Given the description of an element on the screen output the (x, y) to click on. 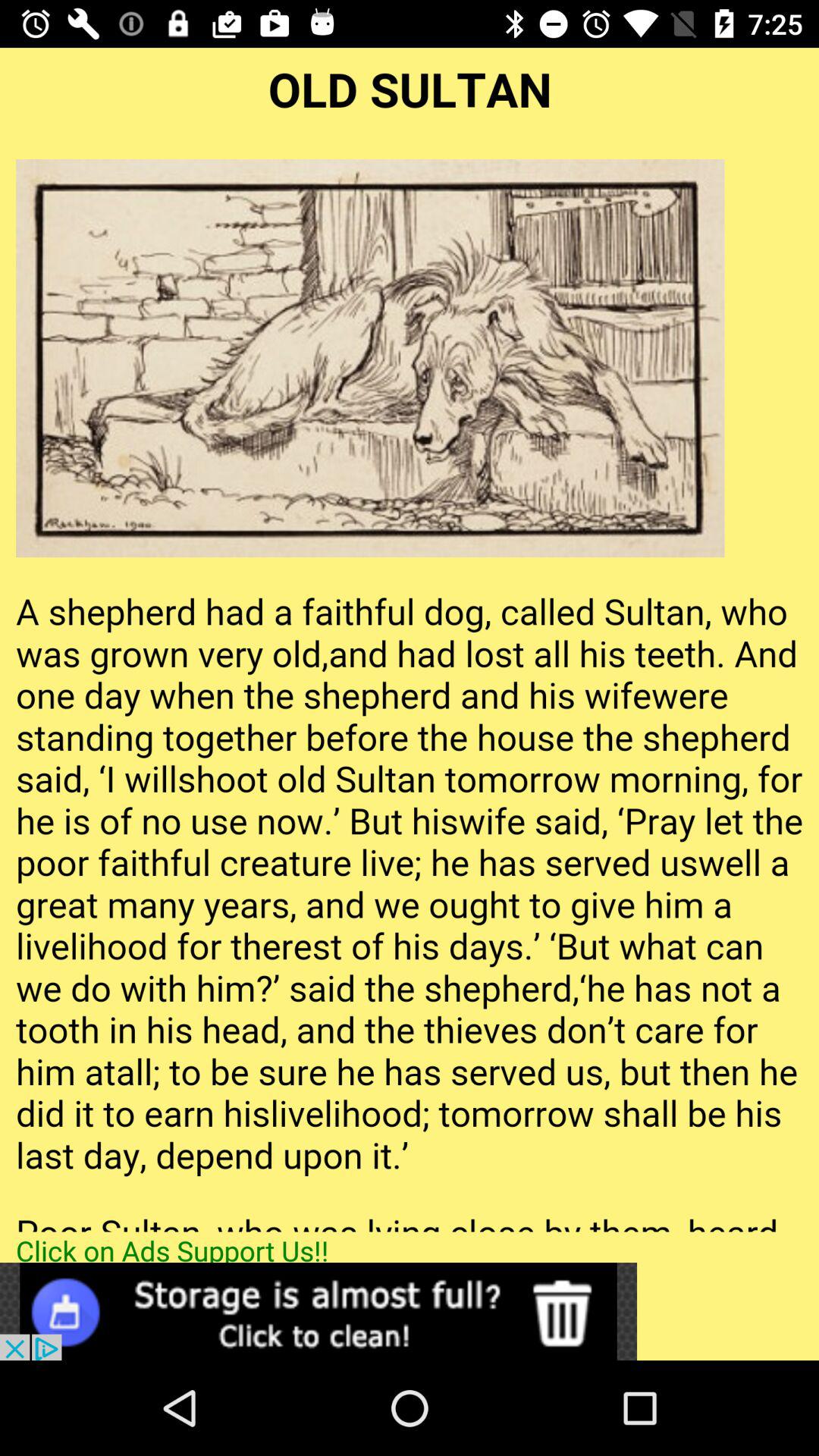
view pagea (409, 639)
